Given the description of an element on the screen output the (x, y) to click on. 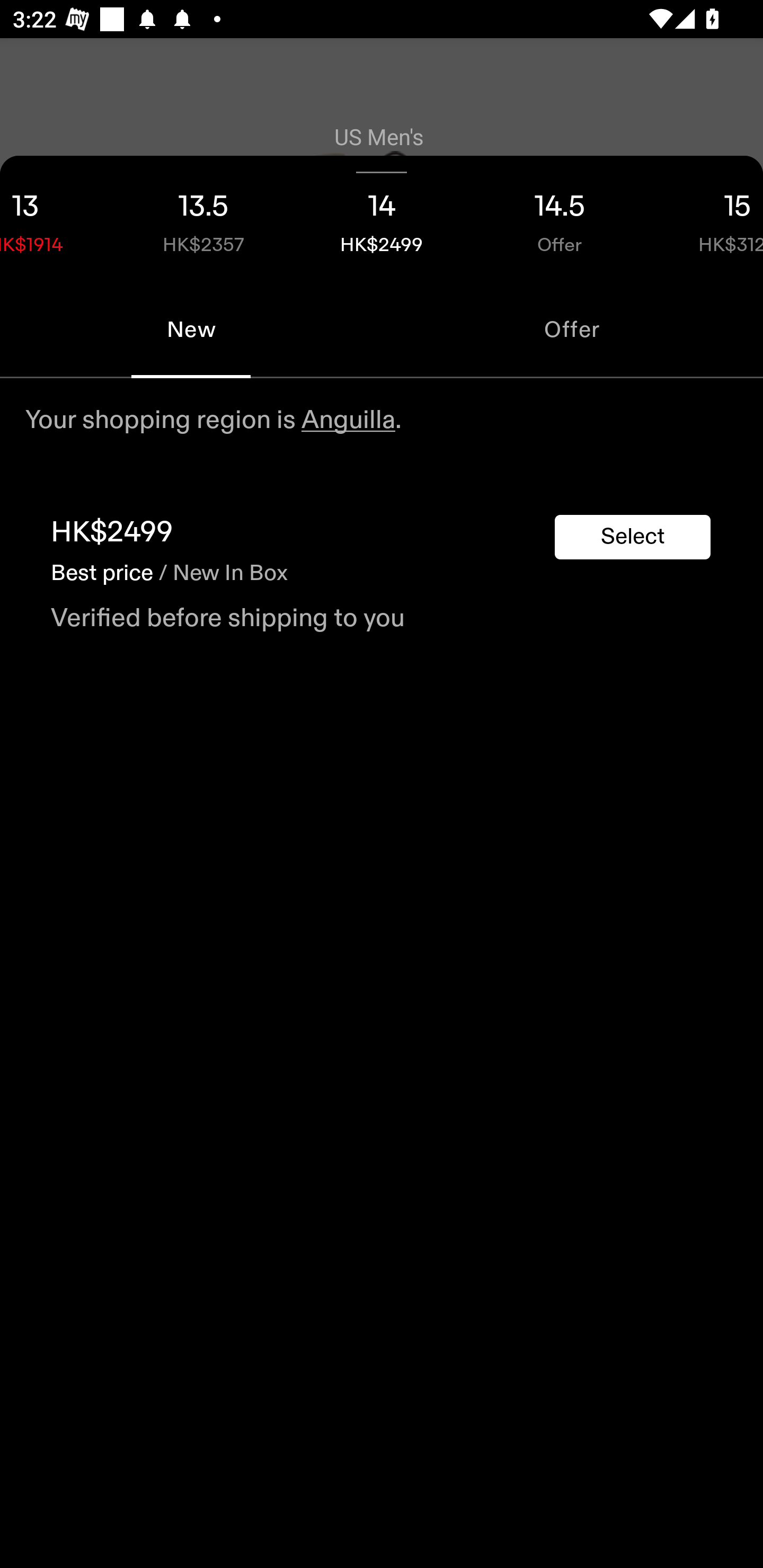
13 HK$1914 (57, 218)
13.5 HK$2357 (203, 218)
14 HK$2499 (381, 218)
14.5 Offer (559, 218)
15 HK$3124 (705, 218)
Offer (572, 329)
Select (632, 536)
